Given the description of an element on the screen output the (x, y) to click on. 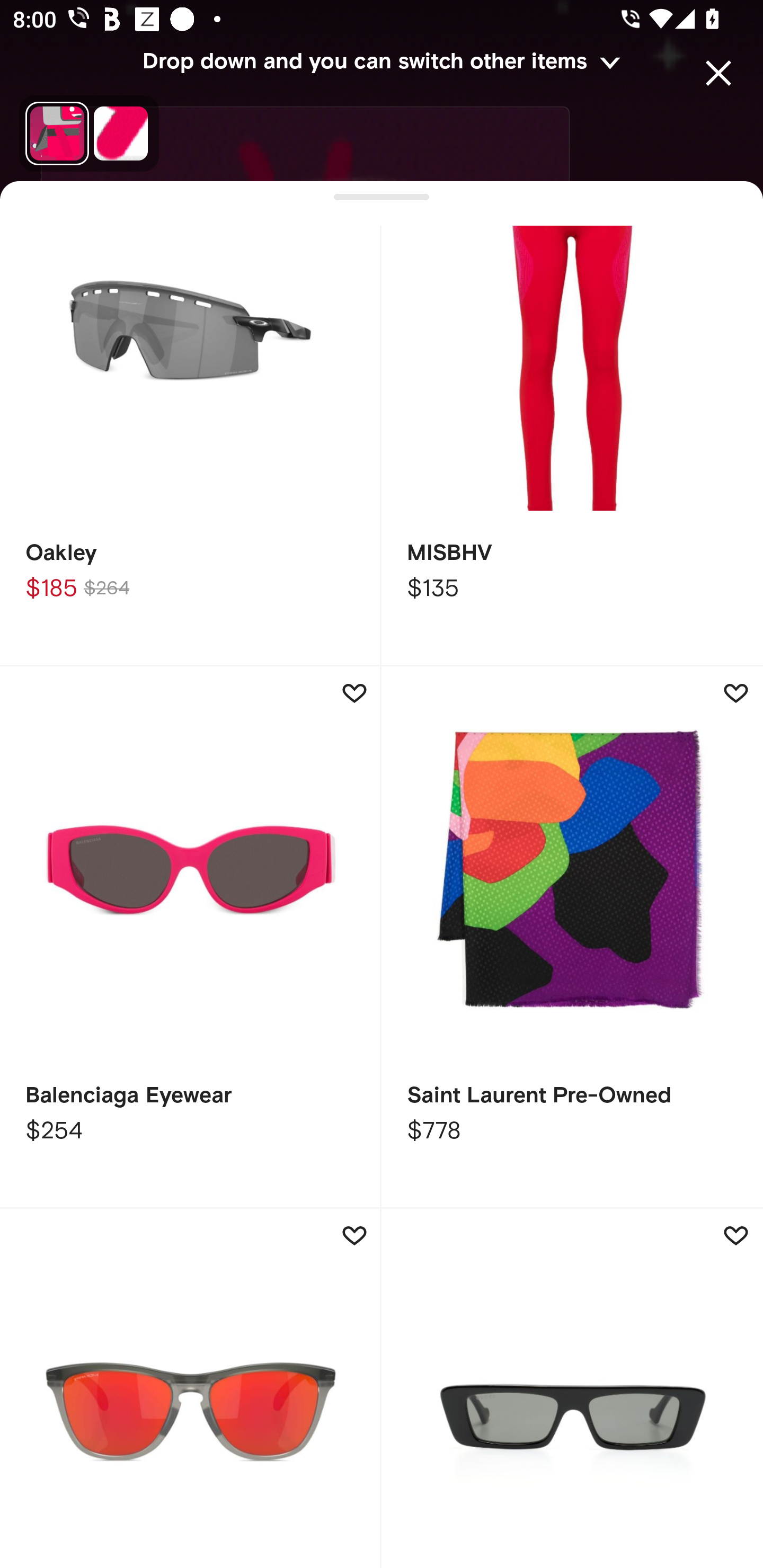
Oakley $185 $264 (190, 445)
MISBHV $135 (572, 445)
Balenciaga Eyewear $254 (190, 937)
Saint Laurent Pre-Owned $778 (572, 937)
